Given the description of an element on the screen output the (x, y) to click on. 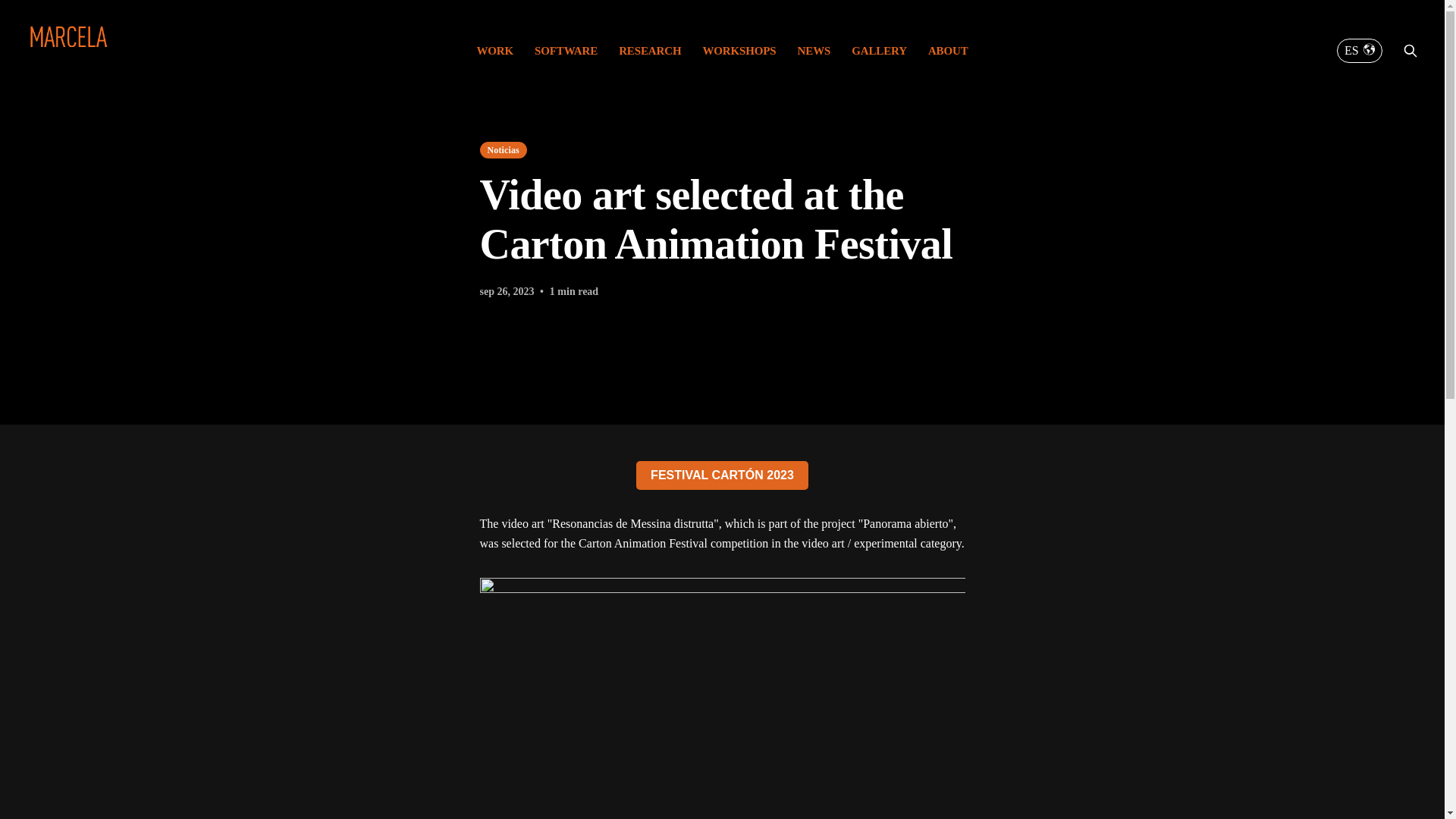
RESEARCH (649, 50)
Noticias (502, 149)
Noticias (502, 149)
WORKSHOPS (738, 50)
SOFTWARE (565, 50)
NEWS (814, 50)
ES (1358, 50)
GALLERY (879, 50)
ABOUT (948, 50)
WORK (494, 50)
